Given the description of an element on the screen output the (x, y) to click on. 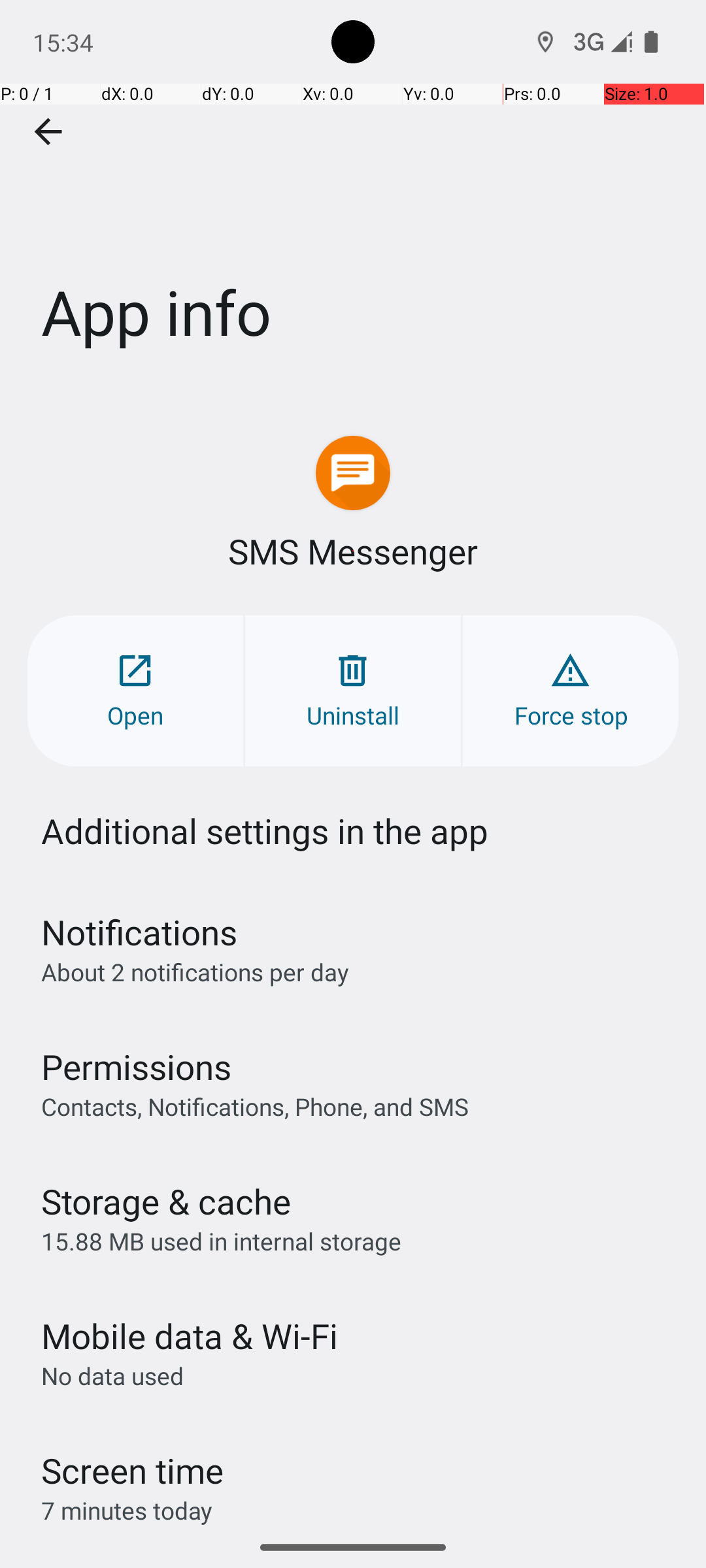
App info Element type: android.widget.FrameLayout (353, 195)
Open Element type: android.widget.Button (135, 690)
Uninstall Element type: android.widget.Button (352, 690)
Force stop Element type: android.widget.Button (570, 690)
Additional settings in the app Element type: android.widget.TextView (264, 830)
Notifications Element type: android.widget.TextView (139, 931)
About 2 notifications per day Element type: android.widget.TextView (195, 971)
Permissions Element type: android.widget.TextView (136, 1066)
Contacts, Notifications, Phone, and SMS Element type: android.widget.TextView (254, 1106)
Storage & cache Element type: android.widget.TextView (166, 1200)
15.88 MB used in internal storage Element type: android.widget.TextView (221, 1240)
Mobile data & Wi‑Fi Element type: android.widget.TextView (189, 1335)
No data used Element type: android.widget.TextView (112, 1375)
Screen time Element type: android.widget.TextView (132, 1470)
7 minutes today Element type: android.widget.TextView (127, 1509)
